Given the description of an element on the screen output the (x, y) to click on. 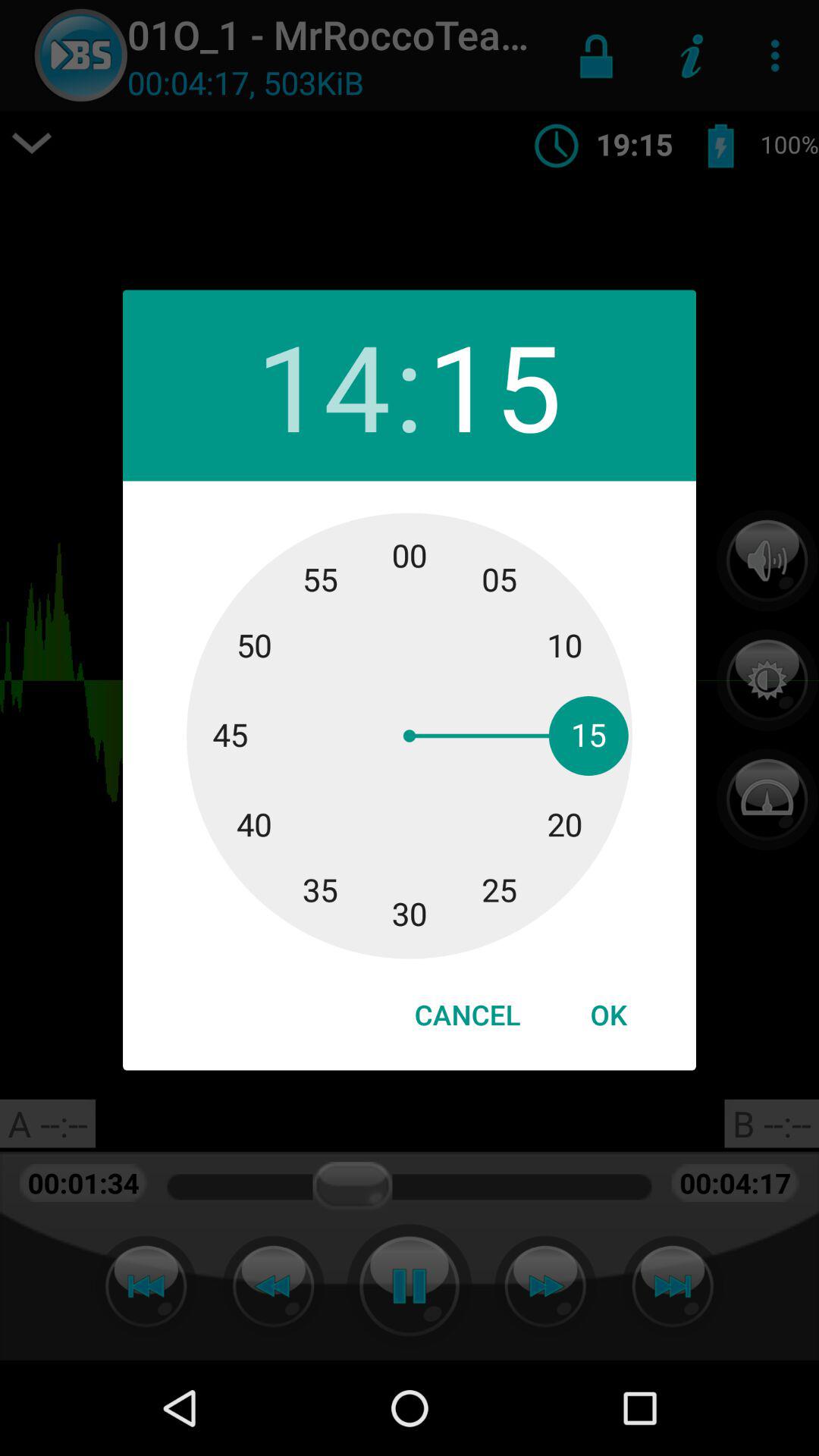
tap the item to the right of the : (494, 384)
